Given the description of an element on the screen output the (x, y) to click on. 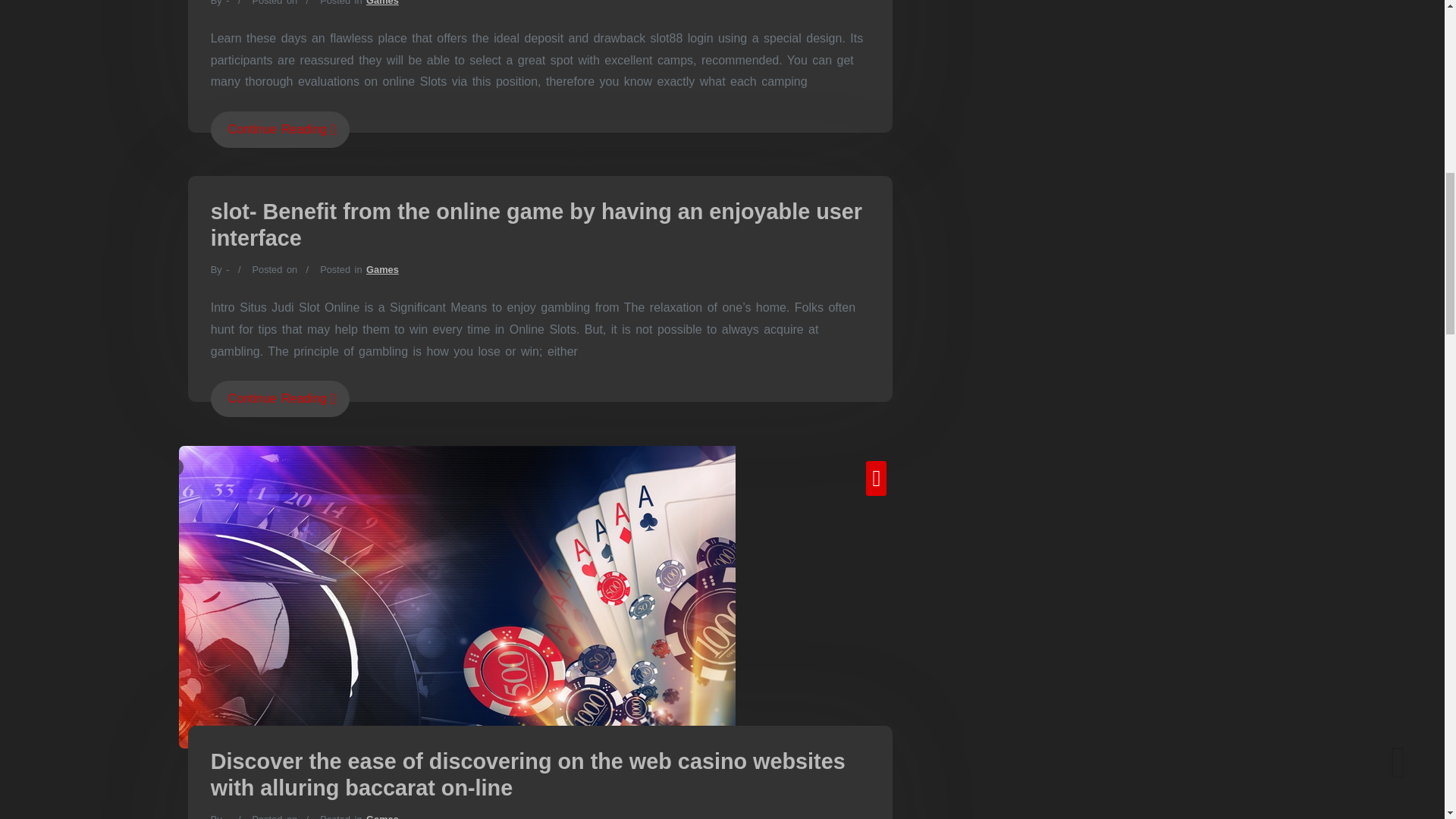
Games (382, 269)
Games (382, 816)
Continue Reading (280, 129)
Games (382, 2)
Continue Reading (280, 398)
